Given the description of an element on the screen output the (x, y) to click on. 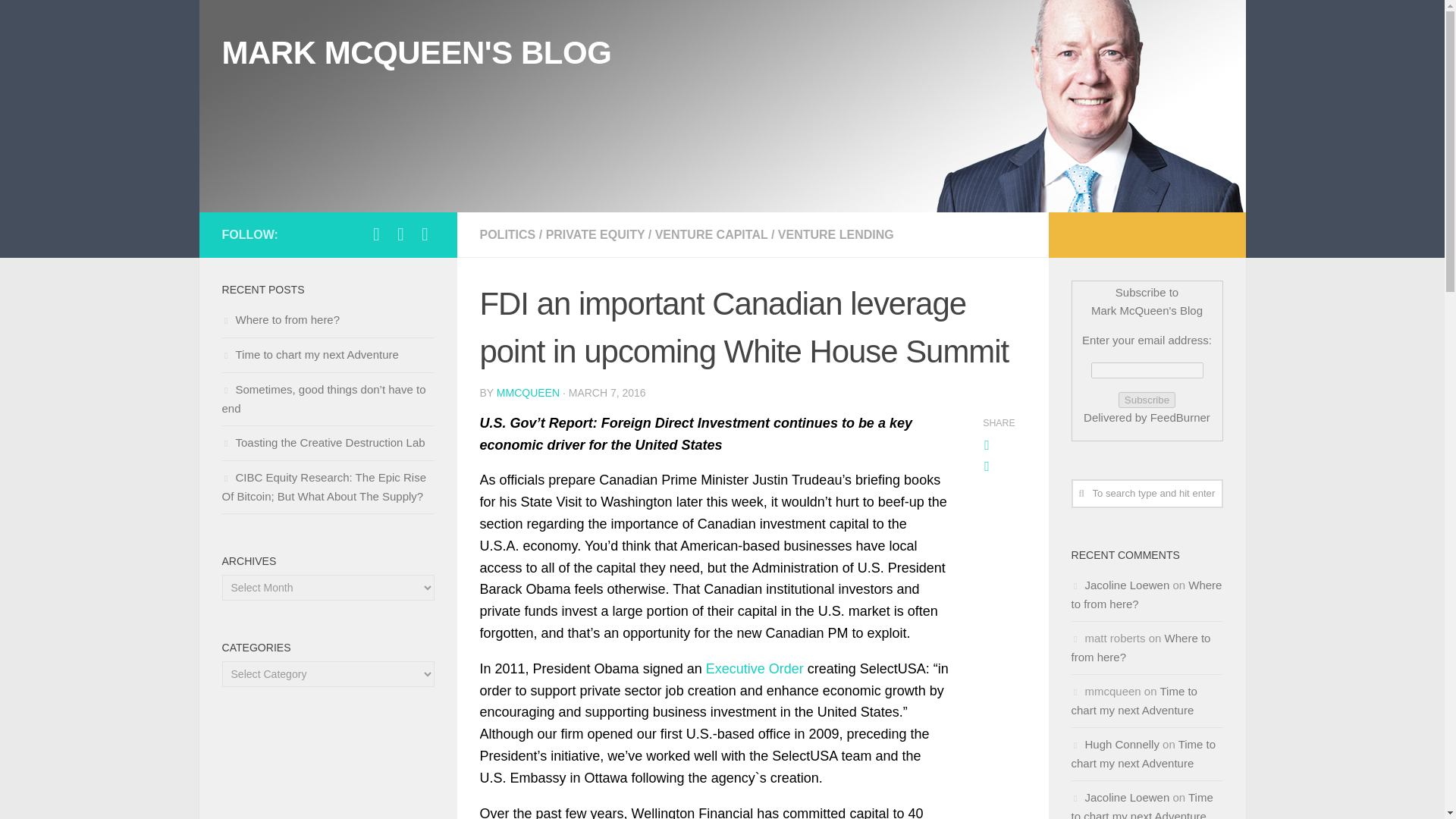
To search type and hit enter (1146, 493)
Where to from here? (280, 318)
VENTURE LENDING (835, 234)
POLITICS (507, 234)
Follow Mark McQueen on Twitter (375, 234)
VENTURE CAPITAL (711, 234)
MARK MCQUEEN'S BLOG (416, 53)
Add Mark McQueen on Linkedin (400, 234)
Executive Order (754, 668)
PRIVATE EQUITY (595, 234)
Time to chart my next Adventure (309, 354)
To search type and hit enter (1146, 493)
Subscribe (1146, 399)
Subscribe to MARK MCQUEEN'S BLOG (423, 234)
MMCQUEEN (527, 392)
